Given the description of an element on the screen output the (x, y) to click on. 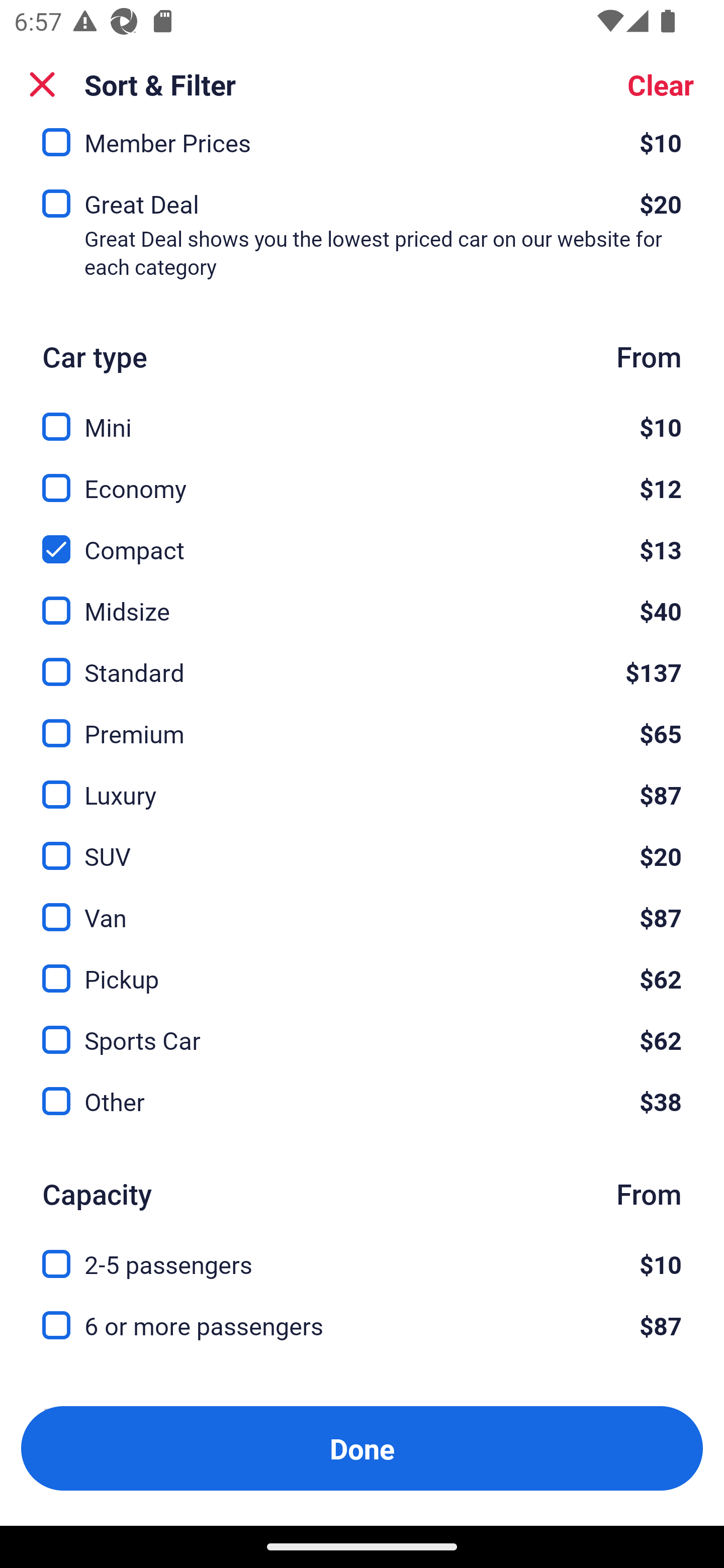
Close Sort and Filter (42, 84)
Clear (660, 84)
Member Prices, $10 Member Prices $10 (361, 150)
Mini, $10 Mini $10 (361, 415)
Economy, $12 Economy $12 (361, 477)
Compact, $13 Compact $13 (361, 538)
Midsize, $40 Midsize $40 (361, 599)
Standard, $137 Standard $137 (361, 660)
Premium, $65 Premium $65 (361, 721)
Luxury, $87 Luxury $87 (361, 782)
SUV, $20 SUV $20 (361, 843)
Van, $87 Van $87 (361, 905)
Pickup, $62 Pickup $62 (361, 967)
Sports Car, $62 Sports Car $62 (361, 1028)
Other, $38 Other $38 (361, 1101)
2-5 passengers, $10 2-5 passengers $10 (361, 1252)
6 or more passengers, $87 6 or more passengers $87 (361, 1325)
Apply and close Sort and Filter Done (361, 1448)
